Given the description of an element on the screen output the (x, y) to click on. 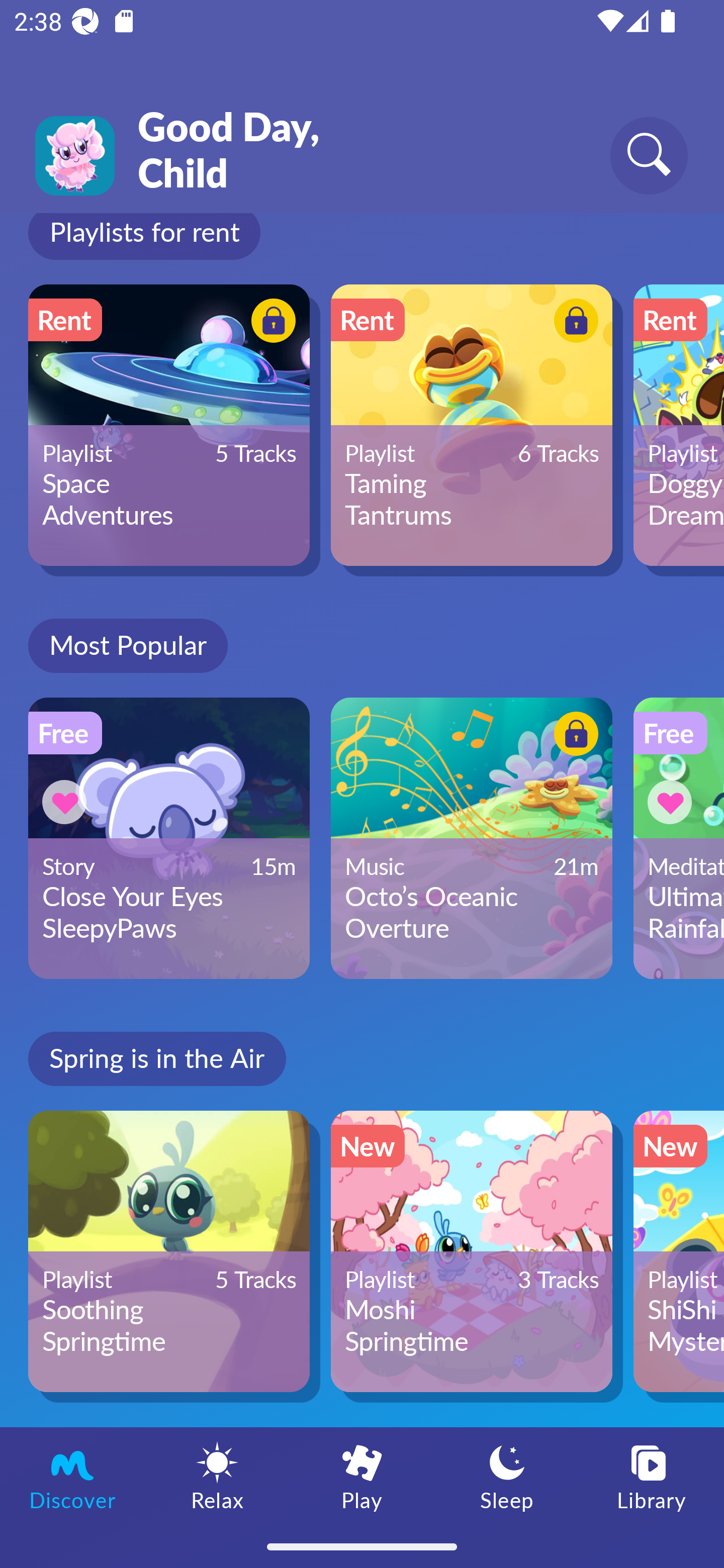
Search (648, 154)
Button (269, 322)
Button (573, 322)
Button (573, 736)
Button (67, 801)
Button (672, 801)
Relax (216, 1475)
Play (361, 1475)
Sleep (506, 1475)
Library (651, 1475)
